Given the description of an element on the screen output the (x, y) to click on. 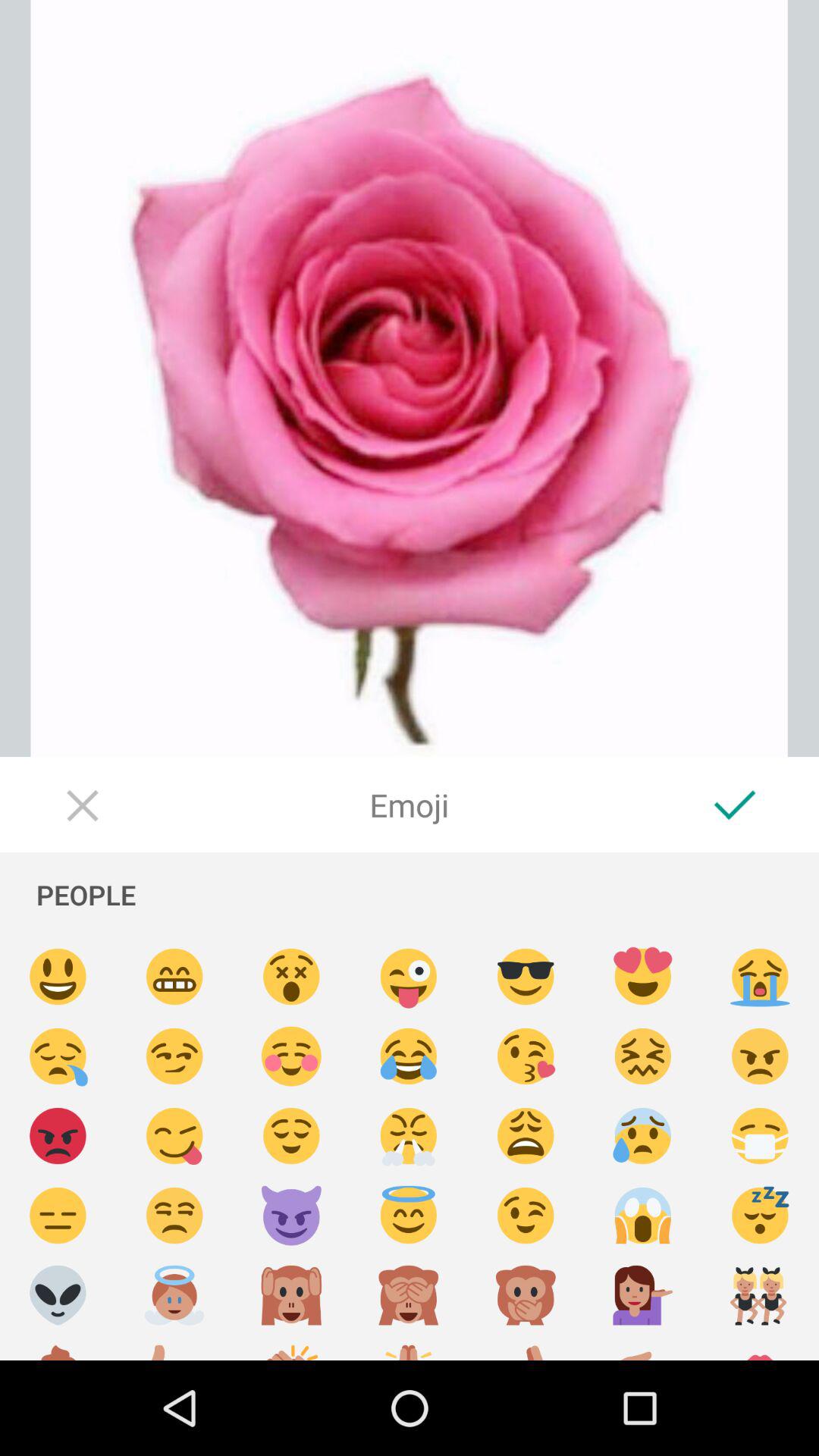
selects an emoji to be used in the picture (291, 1215)
